Given the description of an element on the screen output the (x, y) to click on. 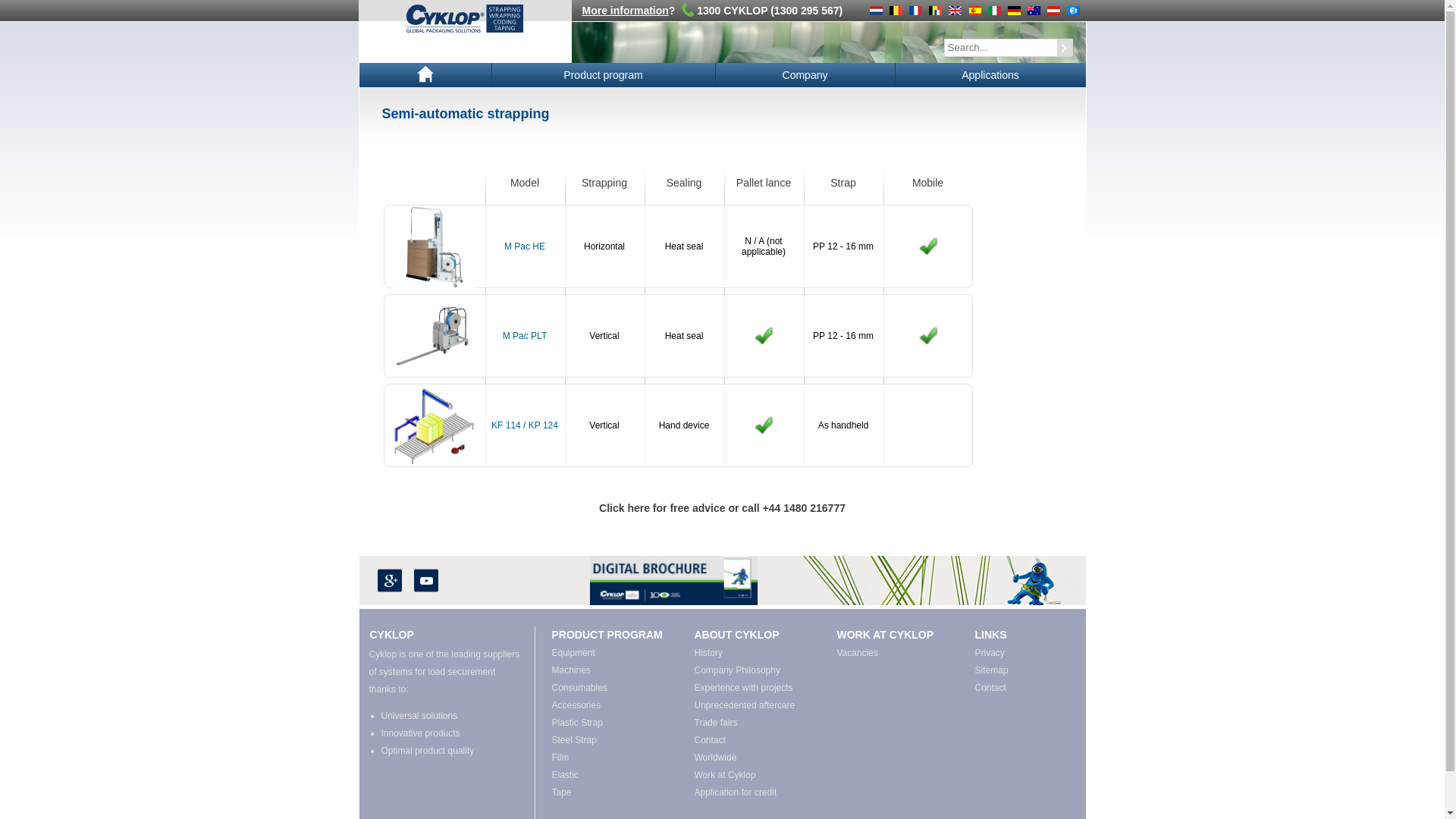
ABOUT CYKLOP Element type: text (736, 634)
KF 114 / KP 124 Element type: text (524, 425)
M Pac PLT Element type: hover (433, 336)
M Pac HE Element type: text (524, 246)
Equipment Element type: text (612, 653)
Elastic Element type: text (612, 775)
COM Element type: hover (1072, 10)
Vacancies Element type: text (897, 653)
German Element type: hover (1013, 10)
M Pac PLT Element type: text (524, 335)
Company Element type: text (804, 74)
Plastic Strap Element type: text (612, 722)
France Element type: hover (914, 10)
Tape Element type: text (612, 792)
Work at Cyklop Element type: text (754, 775)
Austria Element type: hover (1052, 10)
Company Philosophy Element type: text (754, 670)
WORK AT CYKLOP Element type: text (885, 634)
Italian Element type: hover (993, 10)
Netherlands Element type: hover (875, 10)
Film Element type: text (612, 757)
Unprecedented aftercare Element type: text (754, 705)
LINKS Element type: text (991, 634)
History Element type: text (754, 653)
Worldwide Element type: text (754, 757)
Click here for free advice or call +44 1480 216777 Element type: text (722, 507)
PRODUCT PROGRAM Element type: text (607, 634)
Consumables Element type: text (612, 687)
Trade fairs Element type: text (754, 722)
Steel Strap Element type: text (612, 740)
English Element type: hover (953, 10)
Sitemap Element type: text (1022, 670)
Product program Element type: text (602, 74)
Application for credit Element type: text (754, 792)
Contact Element type: text (754, 740)
Applications Element type: text (989, 74)
M Pac HE Element type: hover (433, 247)
Experience with projects Element type: text (754, 687)
More information Element type: text (625, 10)
KF 114 / KP 124 Element type: hover (433, 425)
Accessories Element type: text (612, 705)
Contact Element type: text (1022, 687)
Belgique Element type: hover (934, 10)
Machines Element type: text (612, 670)
Privacy Element type: text (1022, 653)
Spanish Element type: hover (973, 10)
Australian Element type: hover (1032, 10)
